Given the description of an element on the screen output the (x, y) to click on. 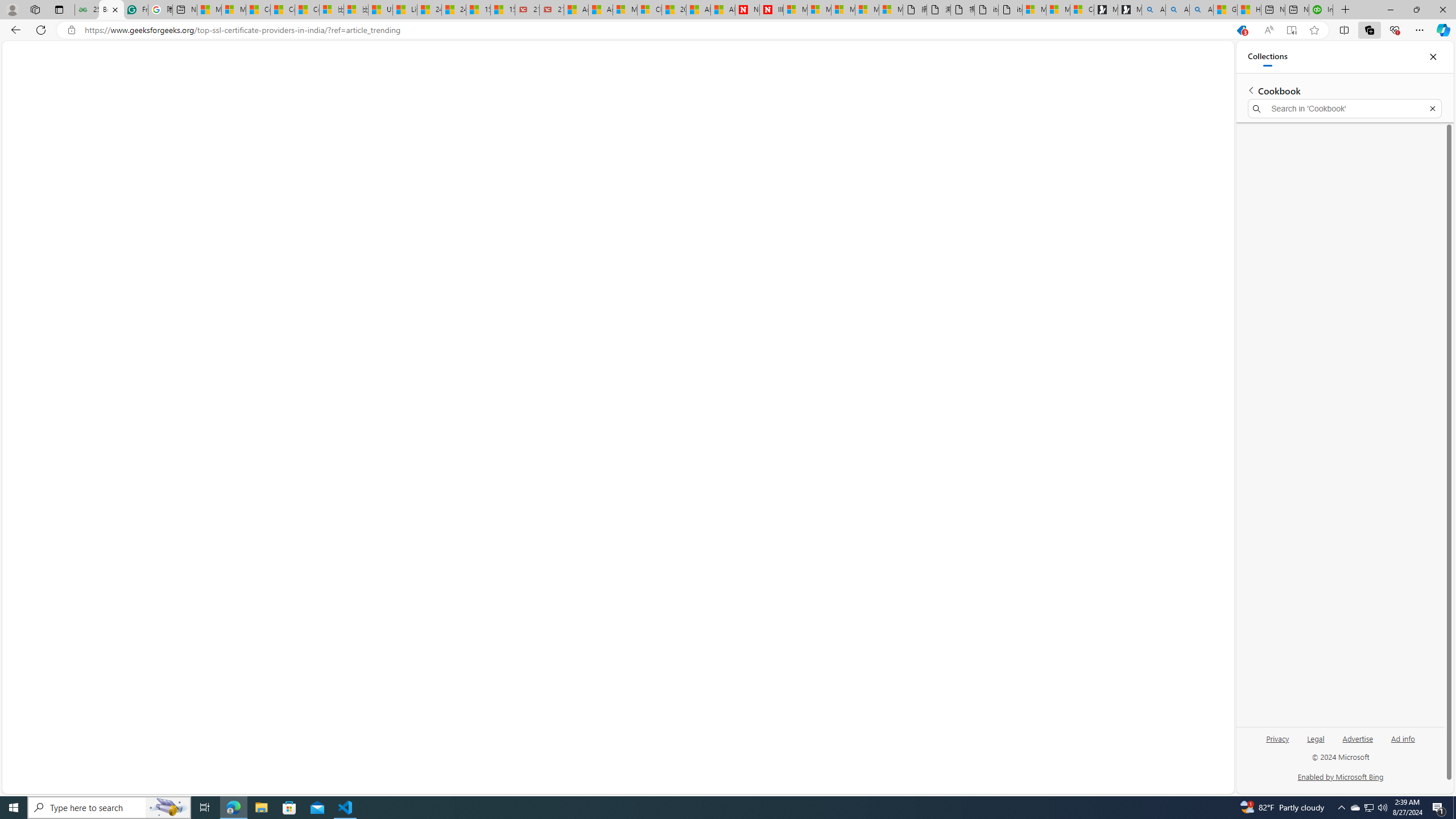
Consumer Health Data Privacy Policy (1082, 9)
15 Ways Modern Life Contradicts the Teachings of Jesus (502, 9)
Learn More (324, 219)
Tutorials (38, 55)
NEWS (86, 79)
Trending (48, 79)
Cookie Policy (895, 779)
AutomationID: bg4 (156, 319)
geeksforgeeks (723, 54)
